Given the description of an element on the screen output the (x, y) to click on. 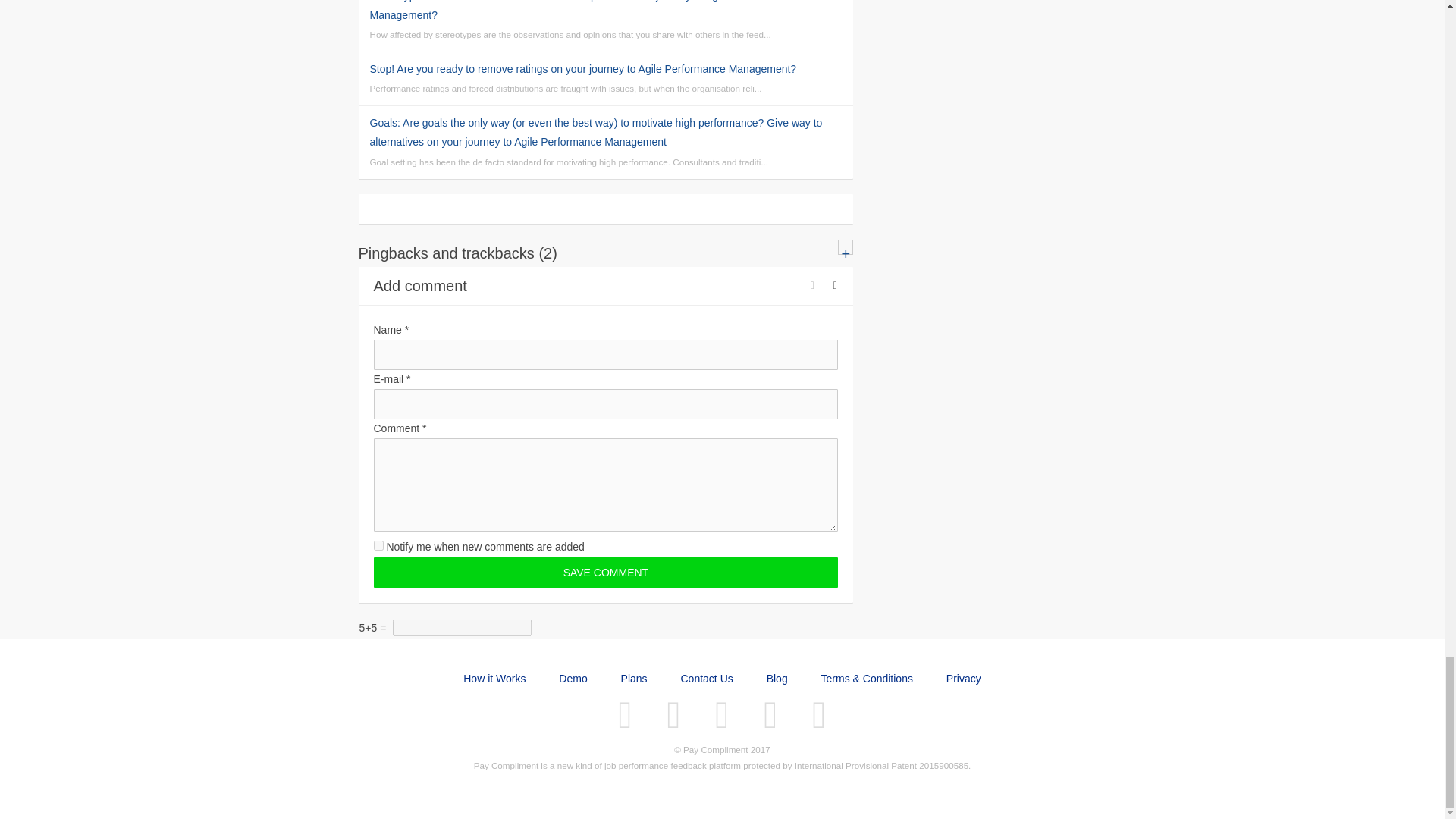
on (377, 545)
Save comment (605, 572)
